Given the description of an element on the screen output the (x, y) to click on. 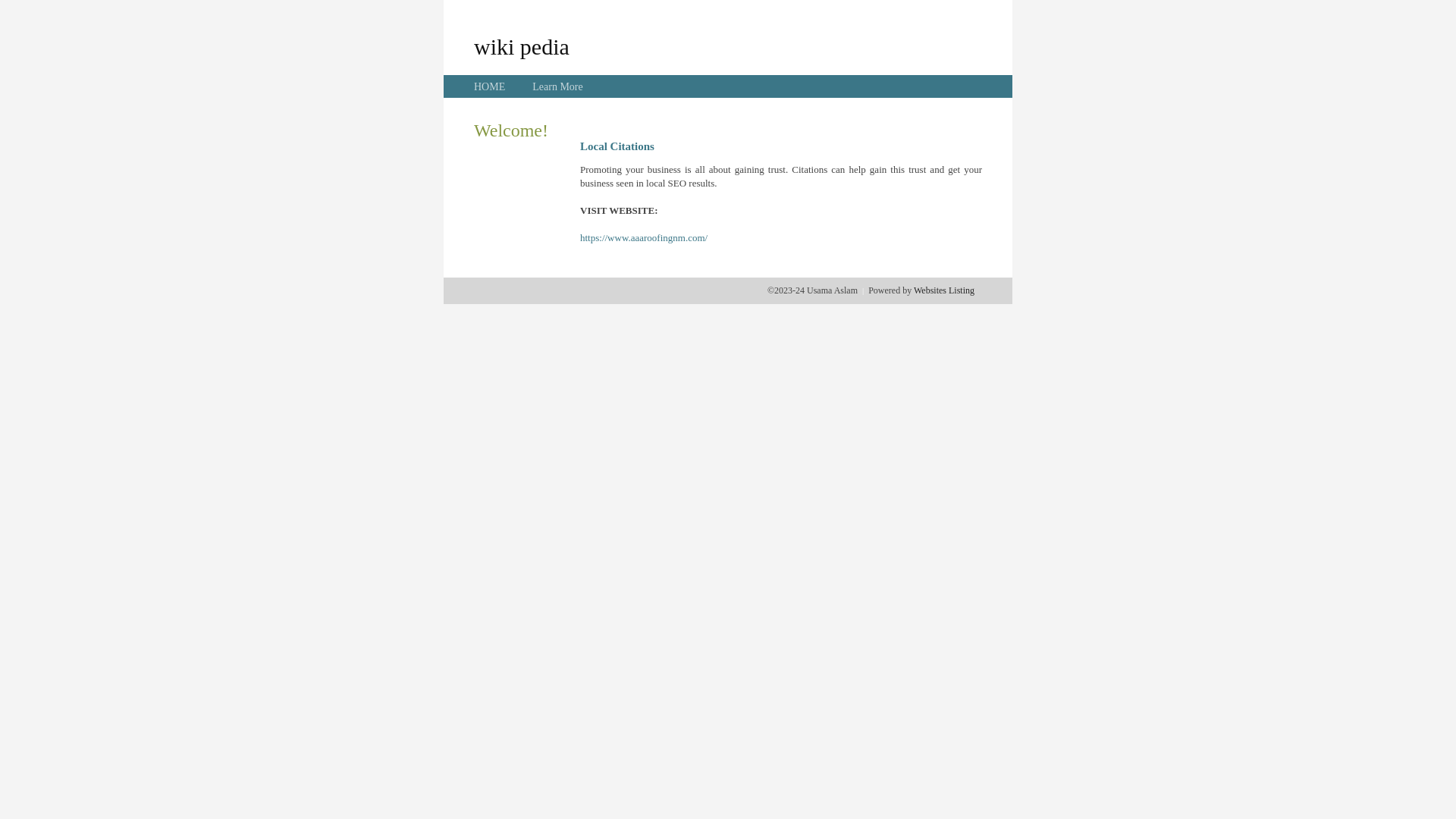
wiki pedia Element type: text (521, 46)
Websites Listing Element type: text (943, 290)
HOME Element type: text (489, 86)
https://www.aaaroofingnm.com/ Element type: text (643, 237)
Learn More Element type: text (557, 86)
